Given the description of an element on the screen output the (x, y) to click on. 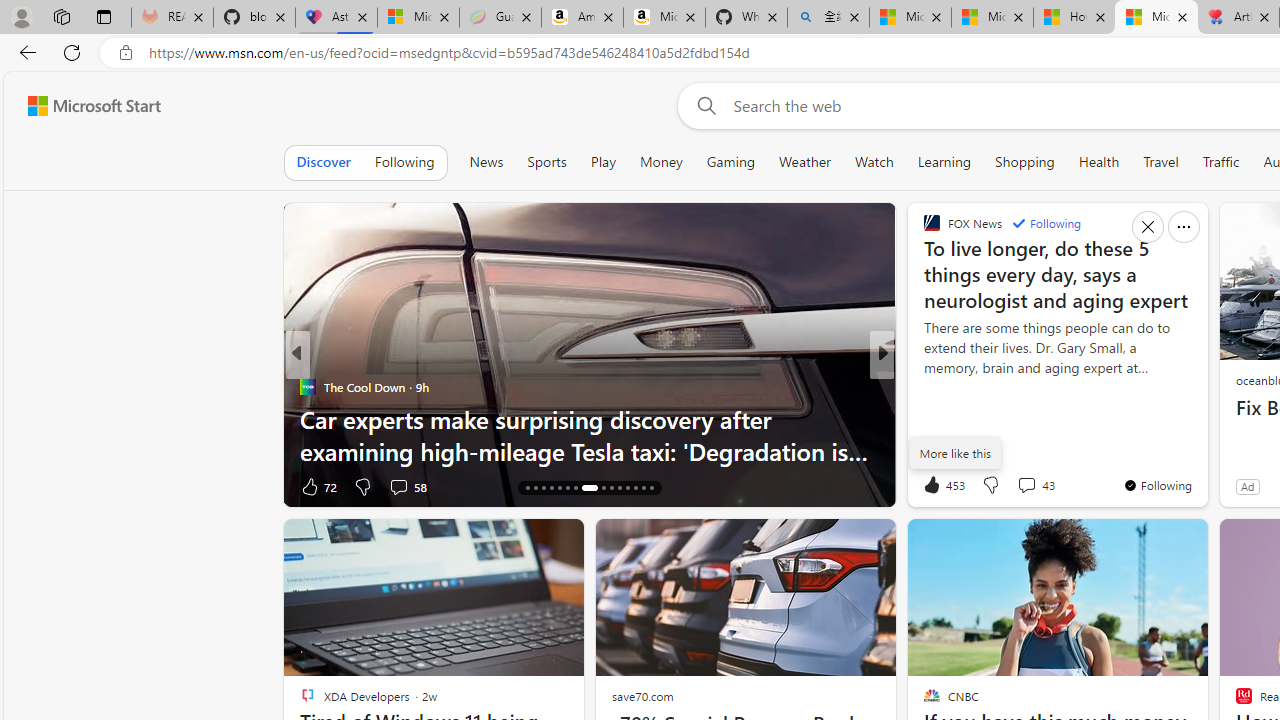
285 Like (936, 486)
CNET (923, 386)
HowToGeek (923, 386)
Microsoft sends Windows Control Panel to tech graveyard (589, 435)
182 Like (936, 486)
AutomationID: tab-16 (527, 487)
20 Like (934, 486)
